Given the description of an element on the screen output the (x, y) to click on. 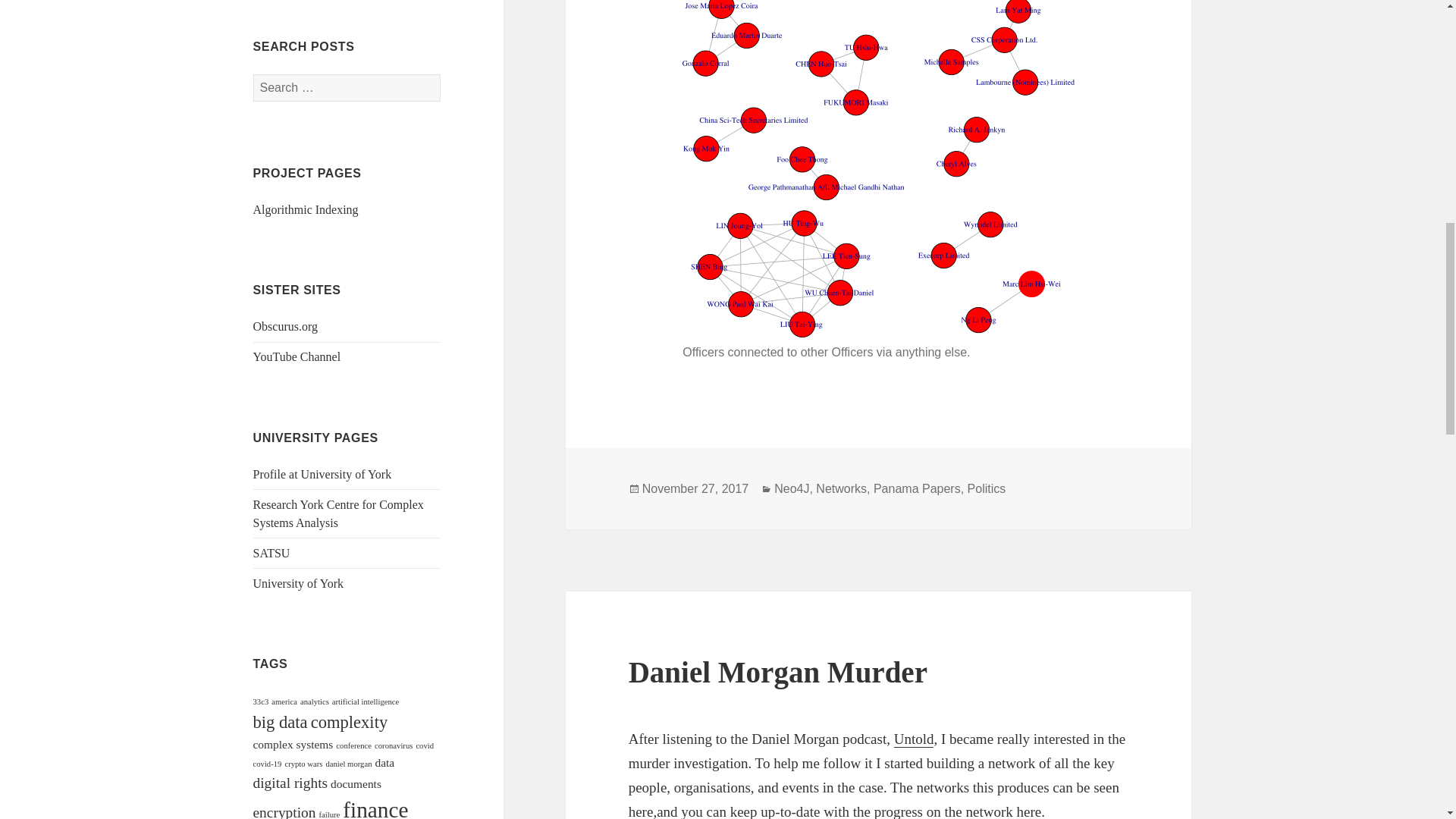
conference (353, 746)
covid-19 (267, 764)
Adventures in finance. (285, 326)
coronavirus (393, 746)
data (384, 762)
Algorithmic Indexing (305, 209)
Main Durham University Website (322, 473)
University of York (298, 583)
artificial intelligence (364, 701)
big data (280, 722)
